Given the description of an element on the screen output the (x, y) to click on. 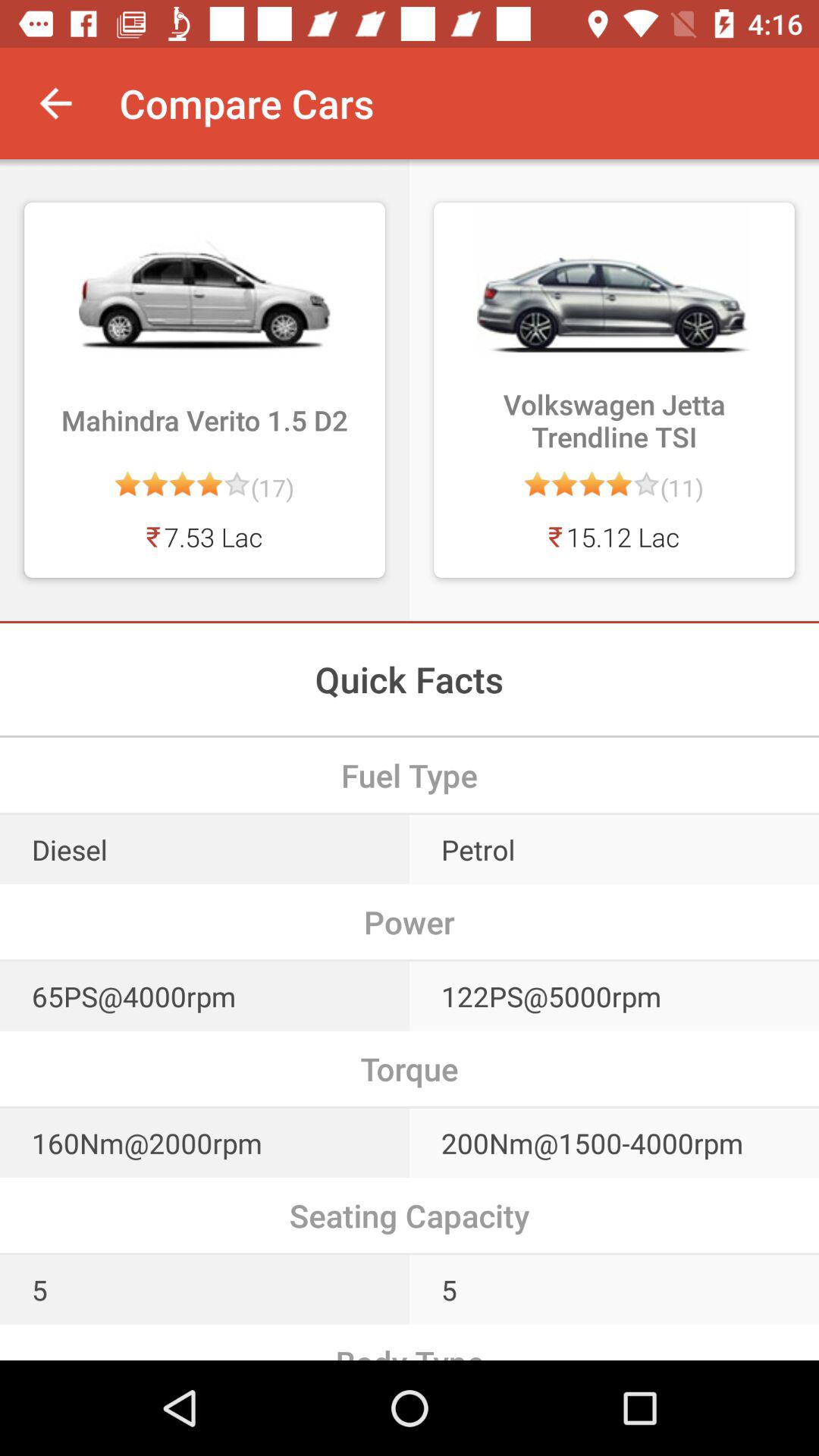
launch item to the left of the compare cars (55, 103)
